Given the description of an element on the screen output the (x, y) to click on. 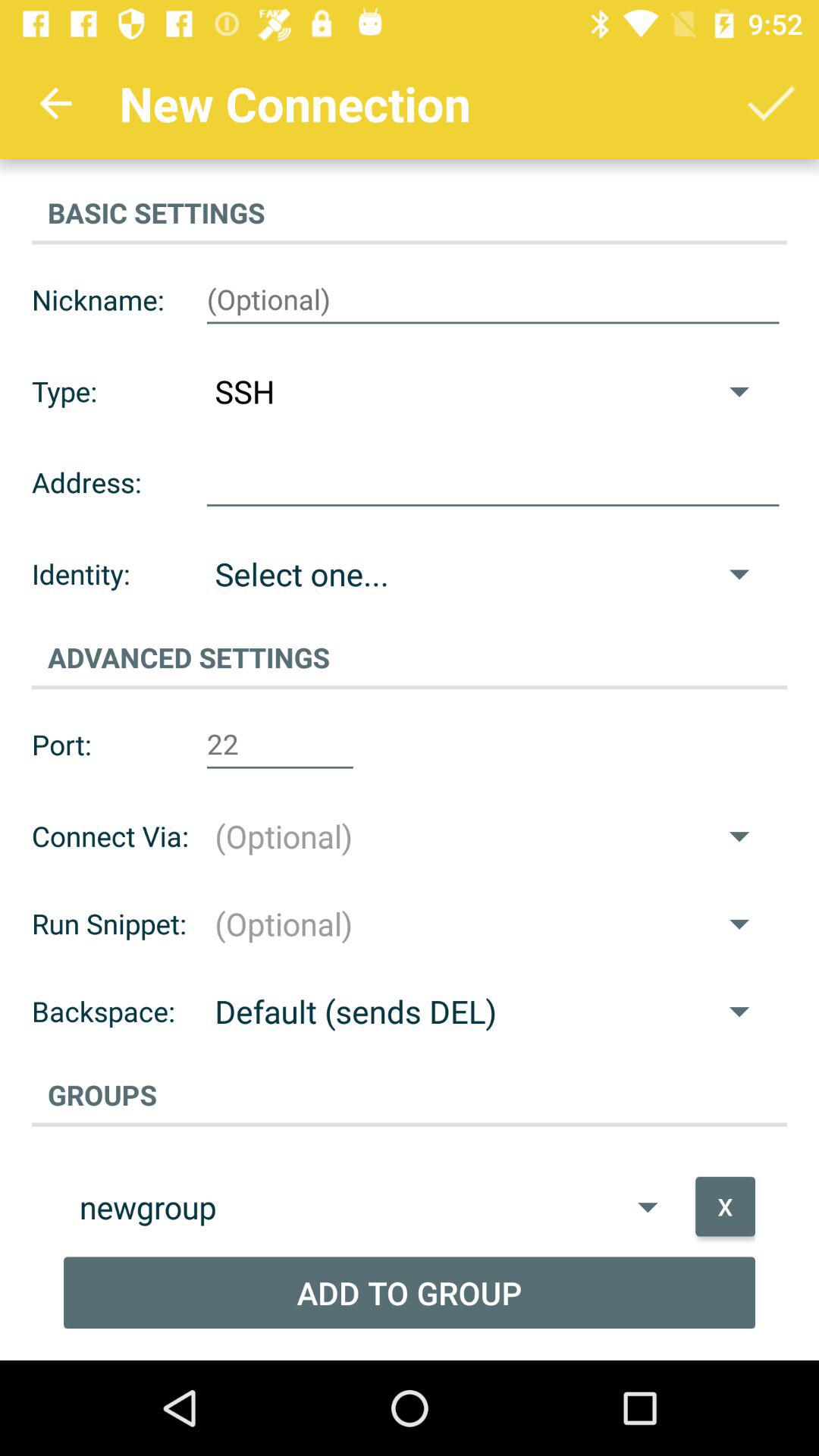
text input bar (493, 299)
